Given the description of an element on the screen output the (x, y) to click on. 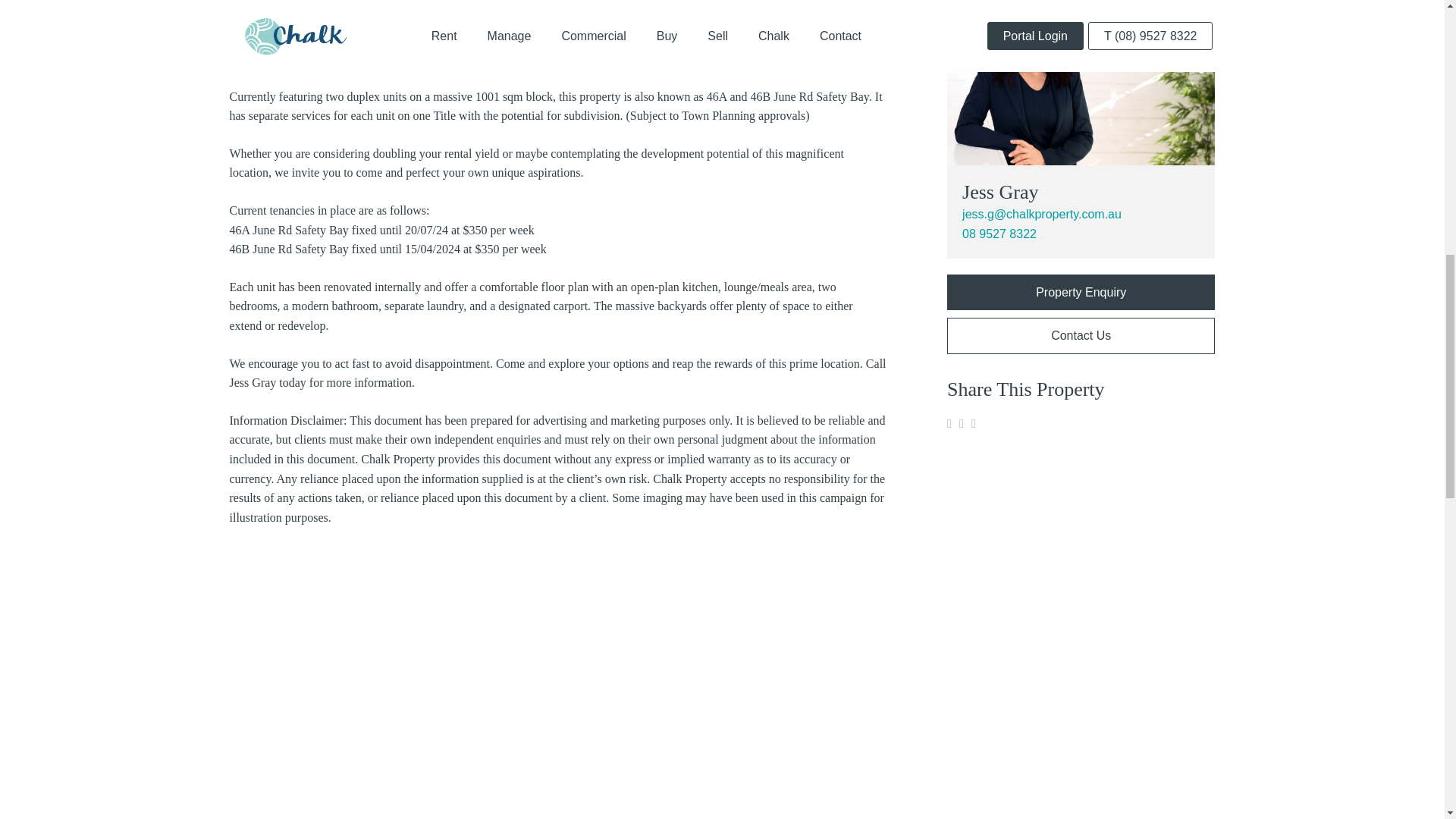
08 9527 8322 (999, 233)
Property Enquiry (1080, 292)
Contact Us (1080, 334)
